Given the description of an element on the screen output the (x, y) to click on. 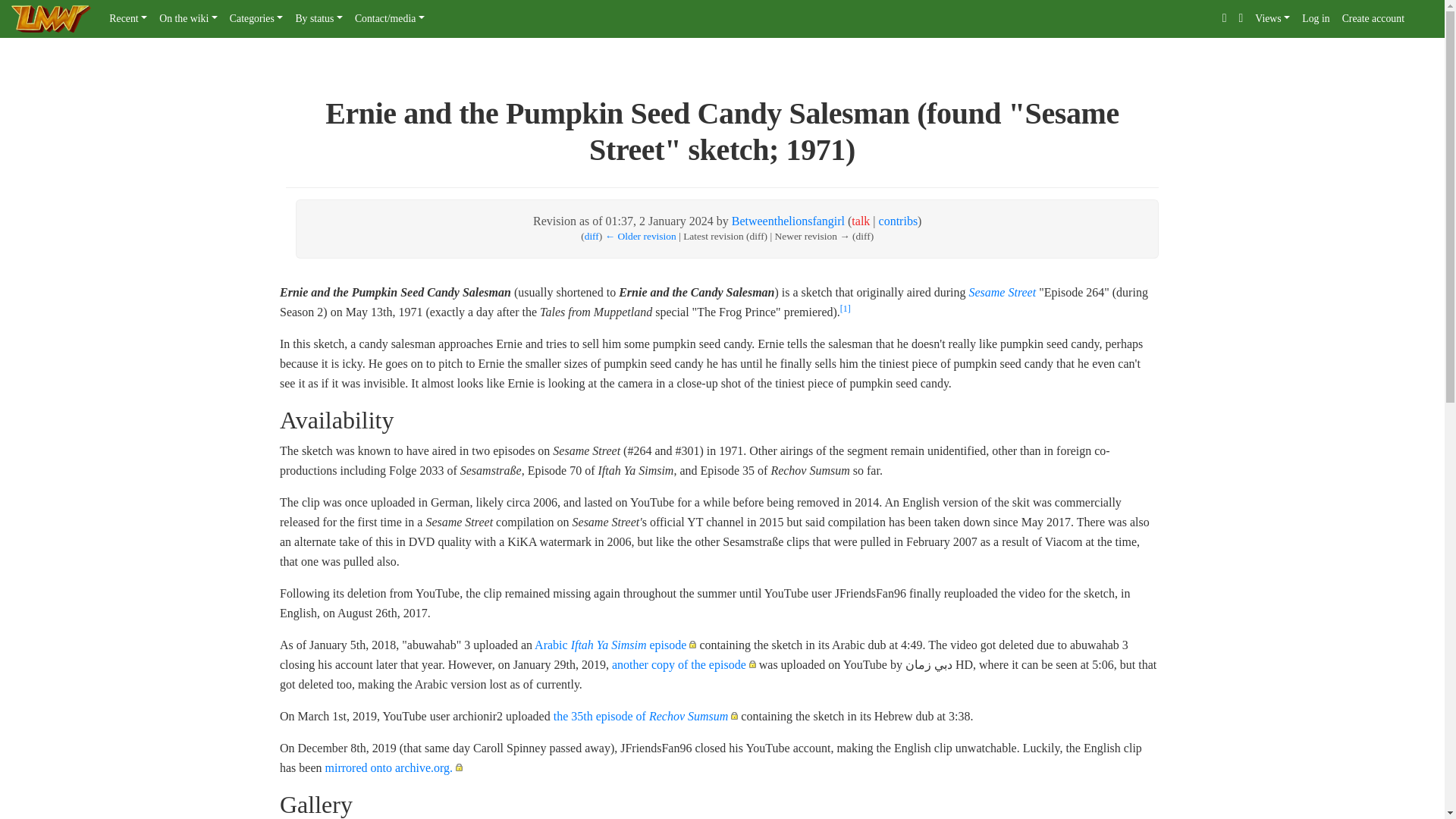
User:Betweenthelionsfangirl (788, 220)
Recent (127, 19)
By status (318, 19)
Categories (256, 19)
On the wiki (188, 19)
